Given the description of an element on the screen output the (x, y) to click on. 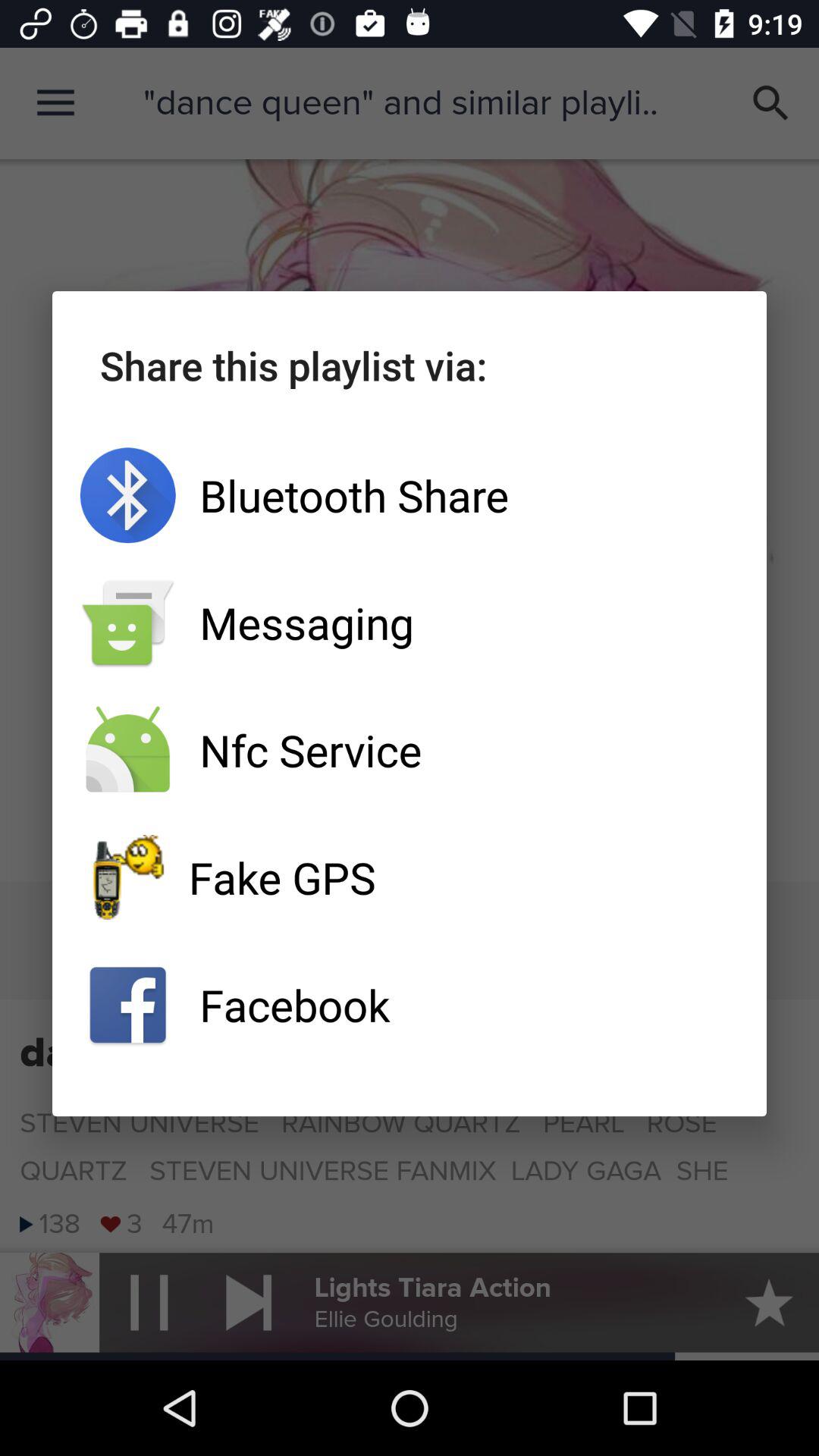
select the item below the nfc service icon (409, 877)
